Given the description of an element on the screen output the (x, y) to click on. 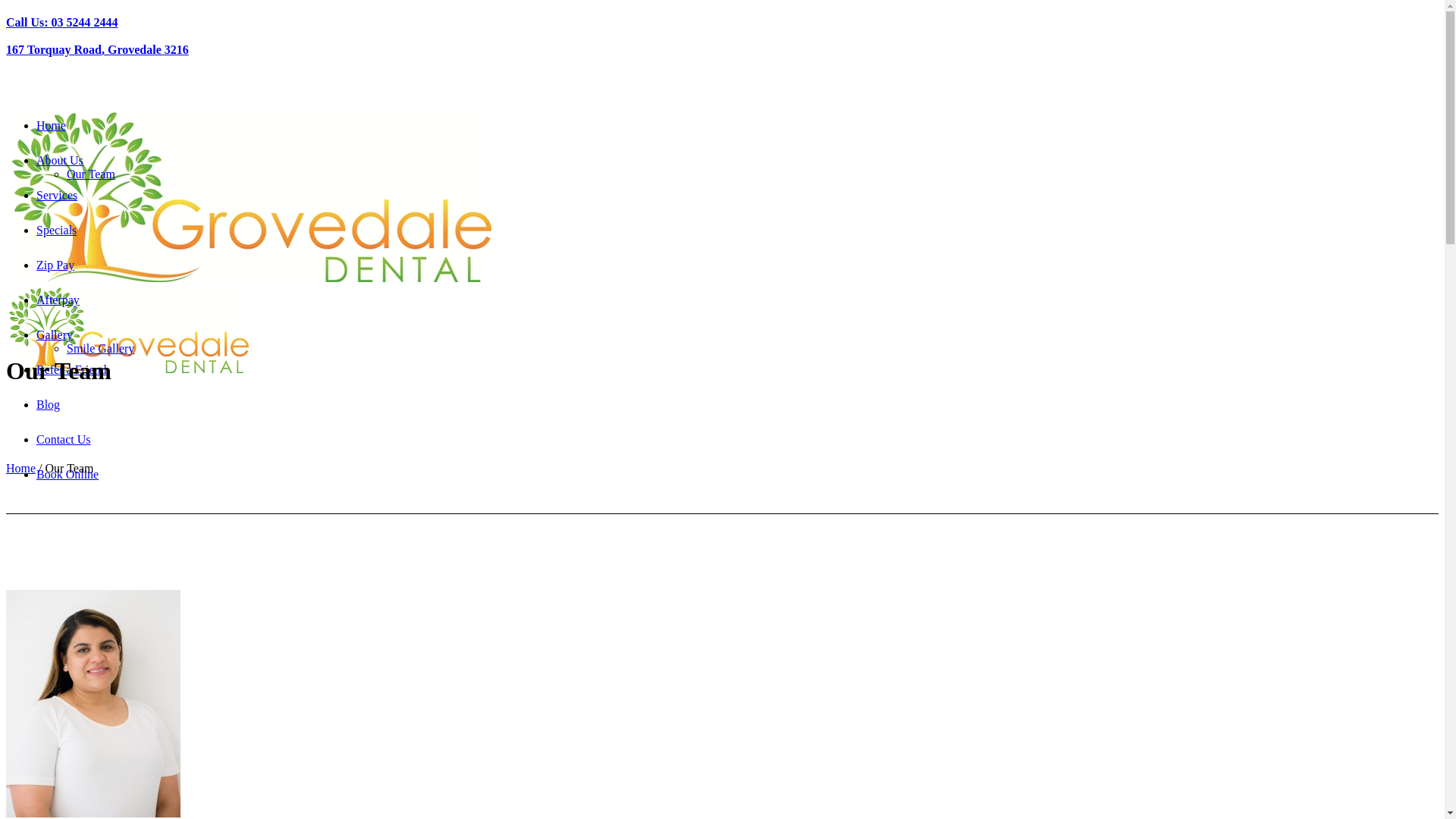
Blog Element type: text (47, 404)
Afterpay Element type: text (57, 299)
Refer a Friend Element type: text (71, 369)
Gallery Element type: text (54, 334)
Grovedale Dental Clinic Element type: hover (248, 323)
Book Online Element type: text (67, 473)
About Us Element type: text (59, 159)
Call Us: 03 5244 2444 Element type: text (62, 21)
Smile Gallery Element type: text (100, 348)
Services Element type: text (56, 194)
Contact Us Element type: text (63, 439)
Specials Element type: text (56, 229)
Zip Pay Element type: text (55, 264)
Home Element type: text (50, 125)
167 Torquay Road, Grovedale 3216 Element type: text (97, 49)
Our Team Element type: text (90, 173)
Home Element type: text (20, 467)
